Given the description of an element on the screen output the (x, y) to click on. 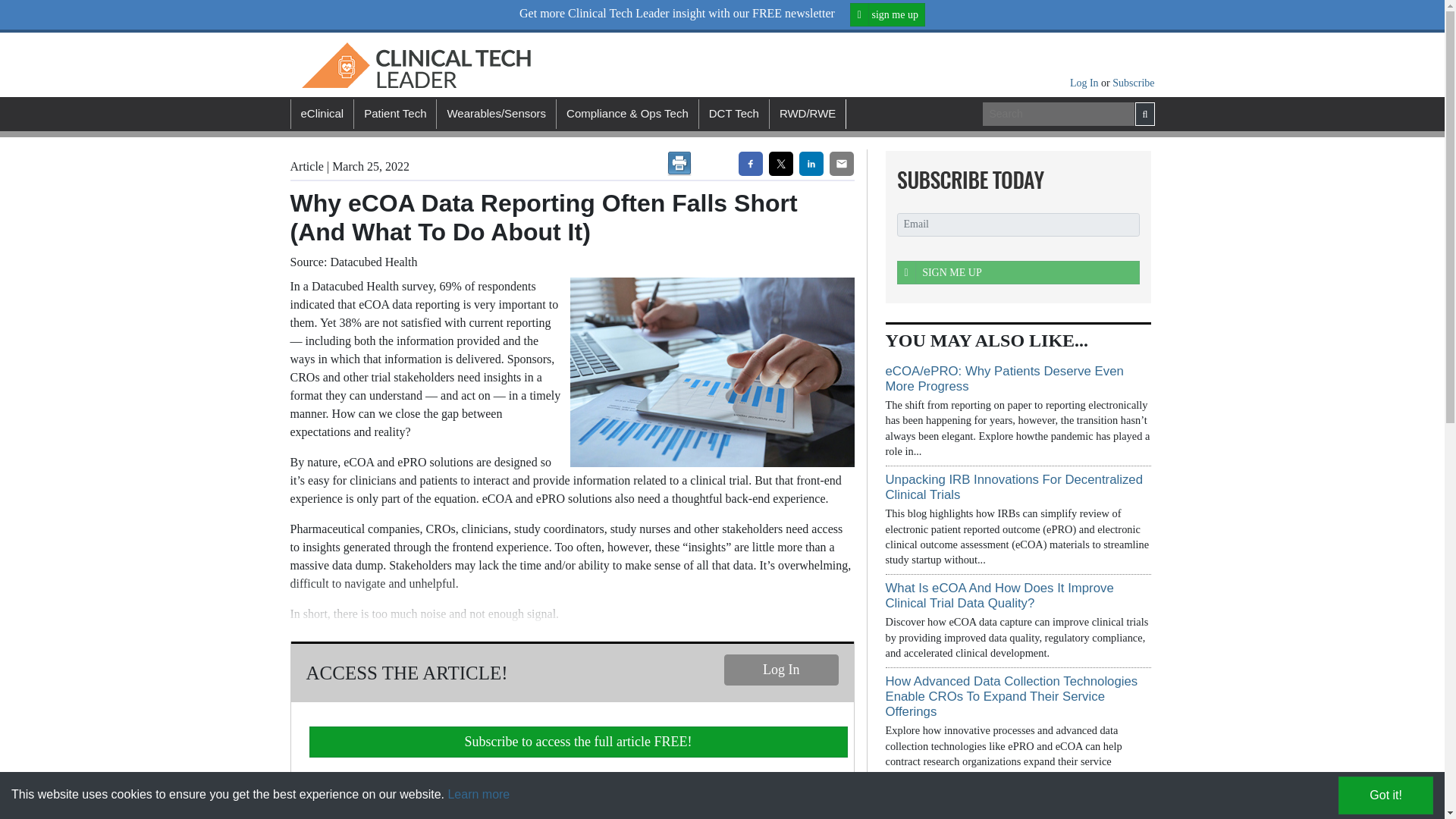
Patient Tech (394, 113)
Unpacking IRB Innovations For Decentralized Clinical Trials (1013, 487)
Subscribe (1133, 82)
Print (679, 163)
DCT Tech (733, 113)
Subscribe to access the full article FREE! (577, 741)
eClinical (321, 113)
Newsletter Signup (1013, 179)
Log In (780, 669)
